Given the description of an element on the screen output the (x, y) to click on. 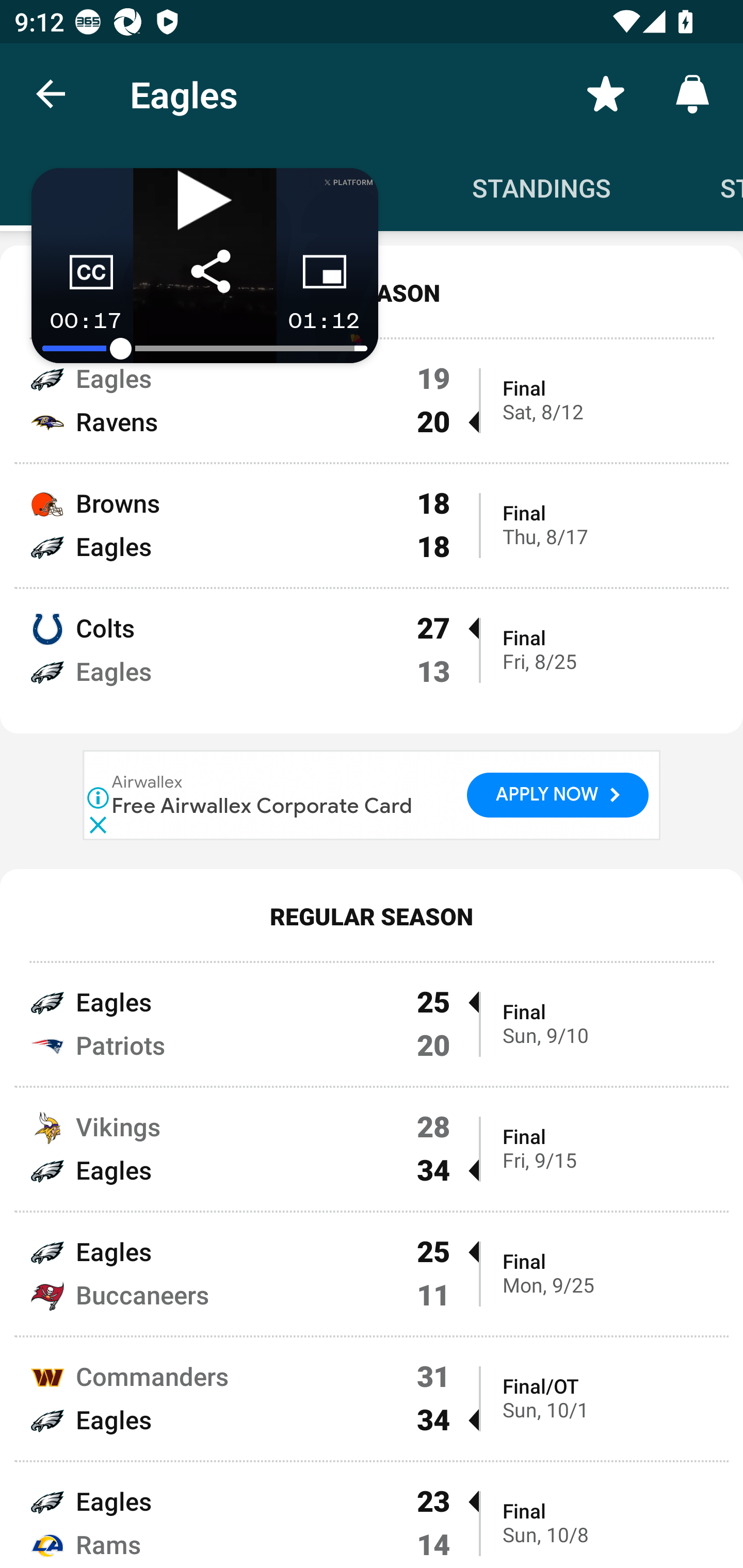
back.button (50, 93)
Favorite toggle (605, 93)
Alerts (692, 93)
Standings STANDINGS (541, 187)
Eagles 19 Ravens 20  Final Sat, 8/12 (371, 398)
Browns 18 Eagles 18 Final Thu, 8/17 (371, 525)
Colts 27  Eagles 13 Final Fri, 8/25 (371, 661)
Airwallex (147, 782)
APPLY NOW (557, 794)
Free Airwallex Corporate Card (262, 805)
REGULAR SEASON (371, 915)
Eagles 25  Patriots 20 Final Sun, 9/10 (371, 1022)
Vikings 28 Eagles 34  Final Fri, 9/15 (371, 1149)
Eagles 25  Buccaneers 11 Final Mon, 9/25 (371, 1273)
Commanders 31 Eagles 34  Final/OT Sun, 10/1 (371, 1398)
Eagles 23  Rams 14 Final Sun, 10/8 (371, 1515)
